Given the description of an element on the screen output the (x, y) to click on. 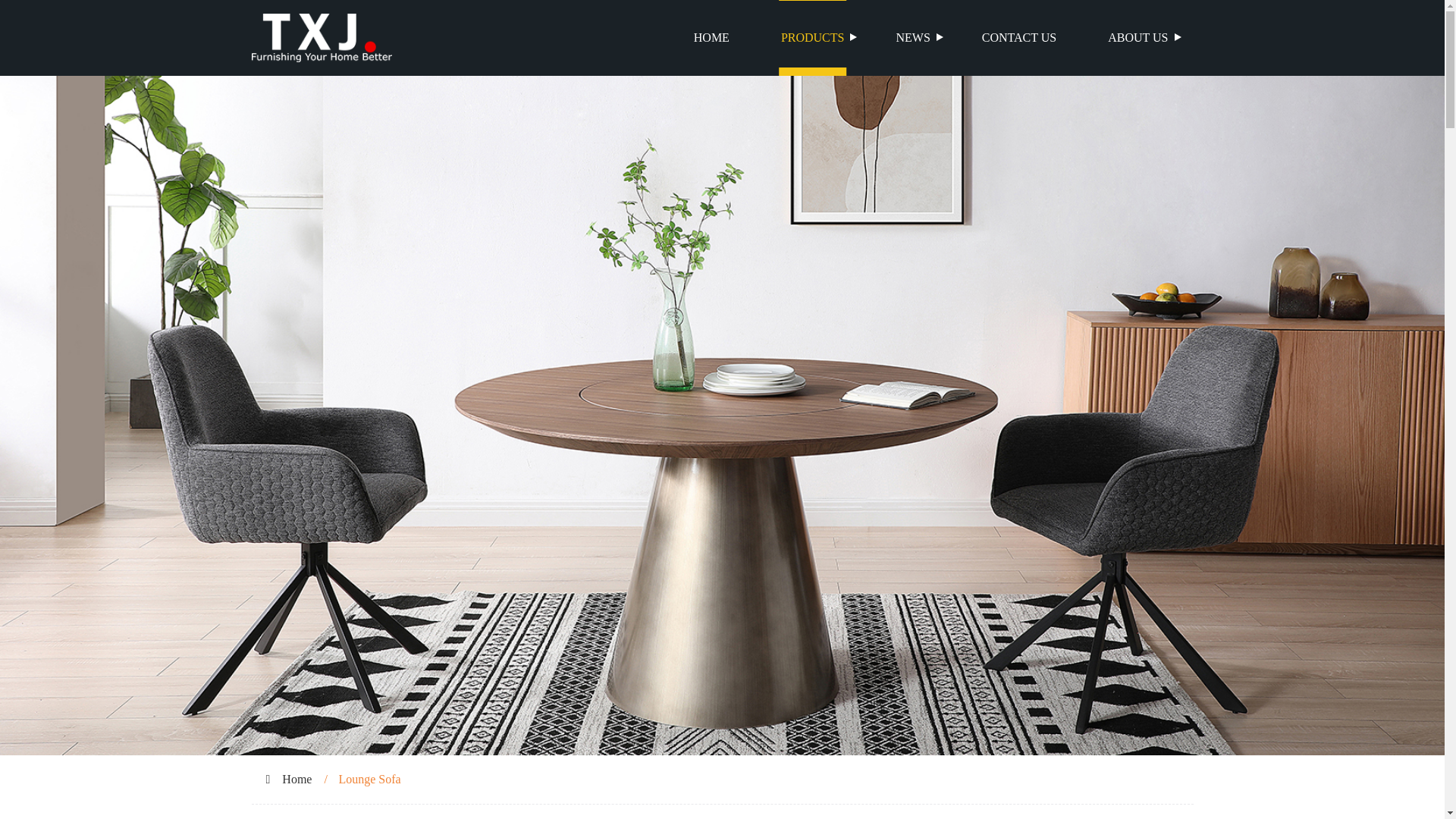
Home (296, 779)
PRODUCTS (812, 38)
CONTACT US (1018, 38)
